Given the description of an element on the screen output the (x, y) to click on. 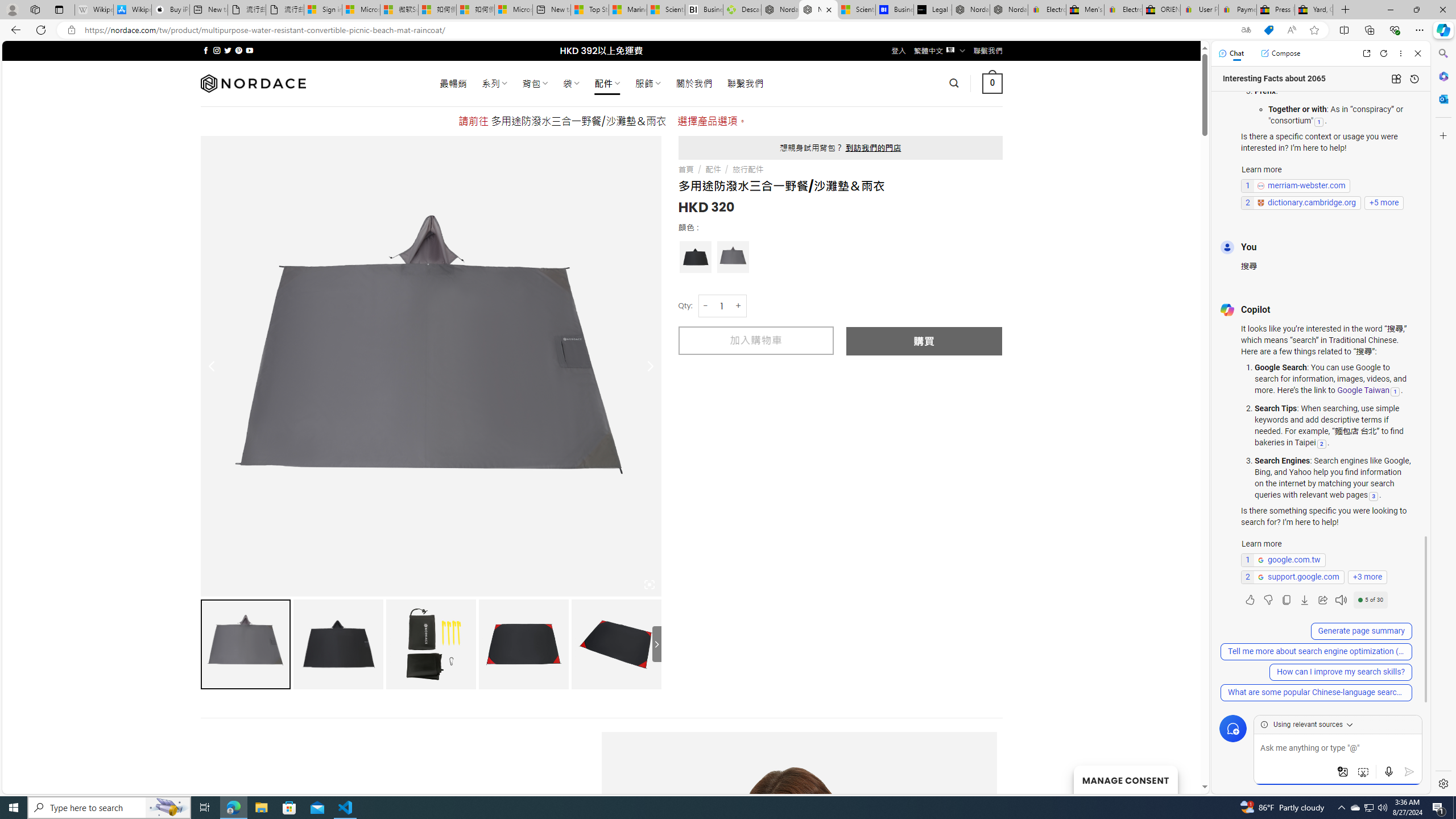
Minimize Search pane (1442, 53)
Microsoft account | Account Checkup (513, 9)
Nordace - Summer Adventures 2024 (780, 9)
